Given the description of an element on the screen output the (x, y) to click on. 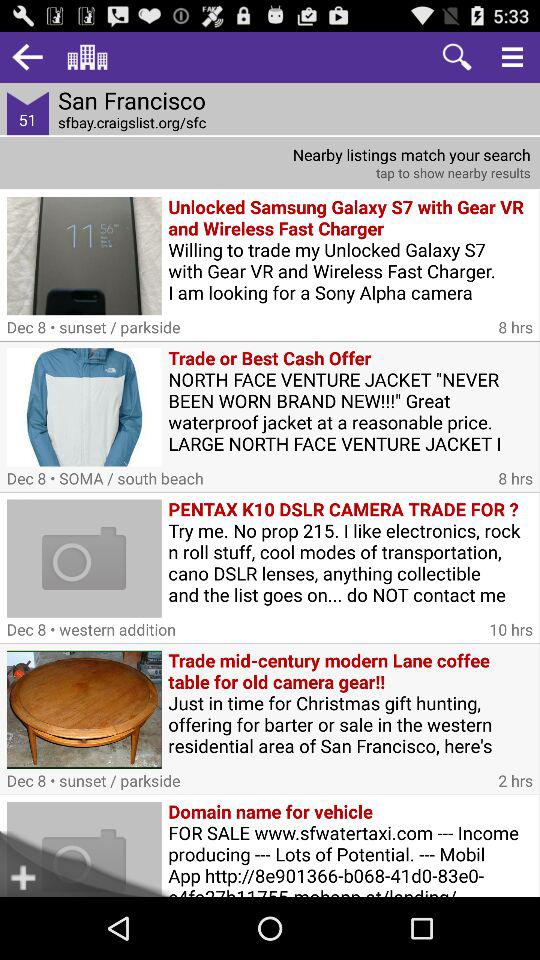
zoom in (456, 56)
